Given the description of an element on the screen output the (x, y) to click on. 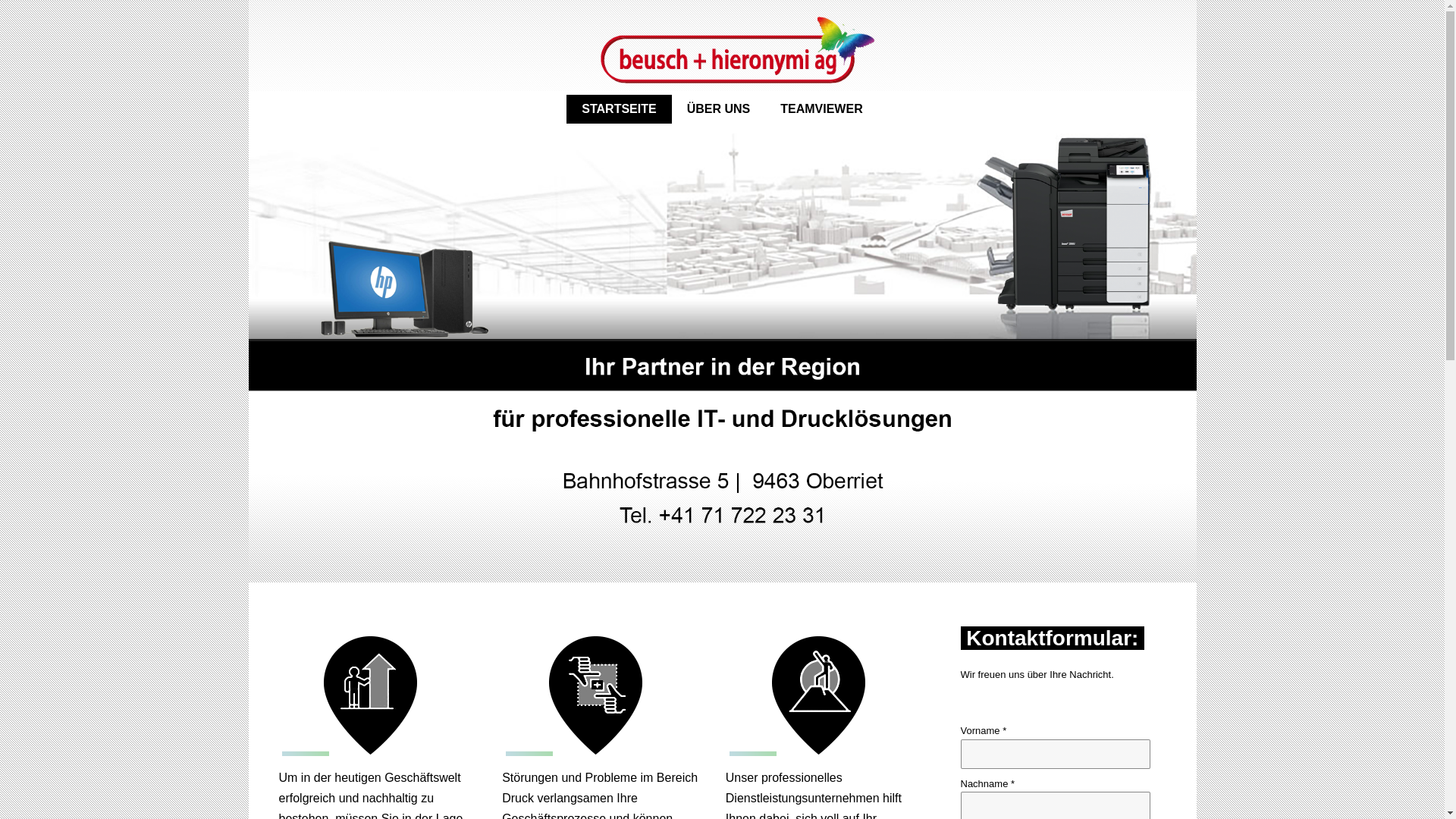
STARTSEITE Element type: text (618, 108)
TEAMVIEWER Element type: text (821, 108)
